Given the description of an element on the screen output the (x, y) to click on. 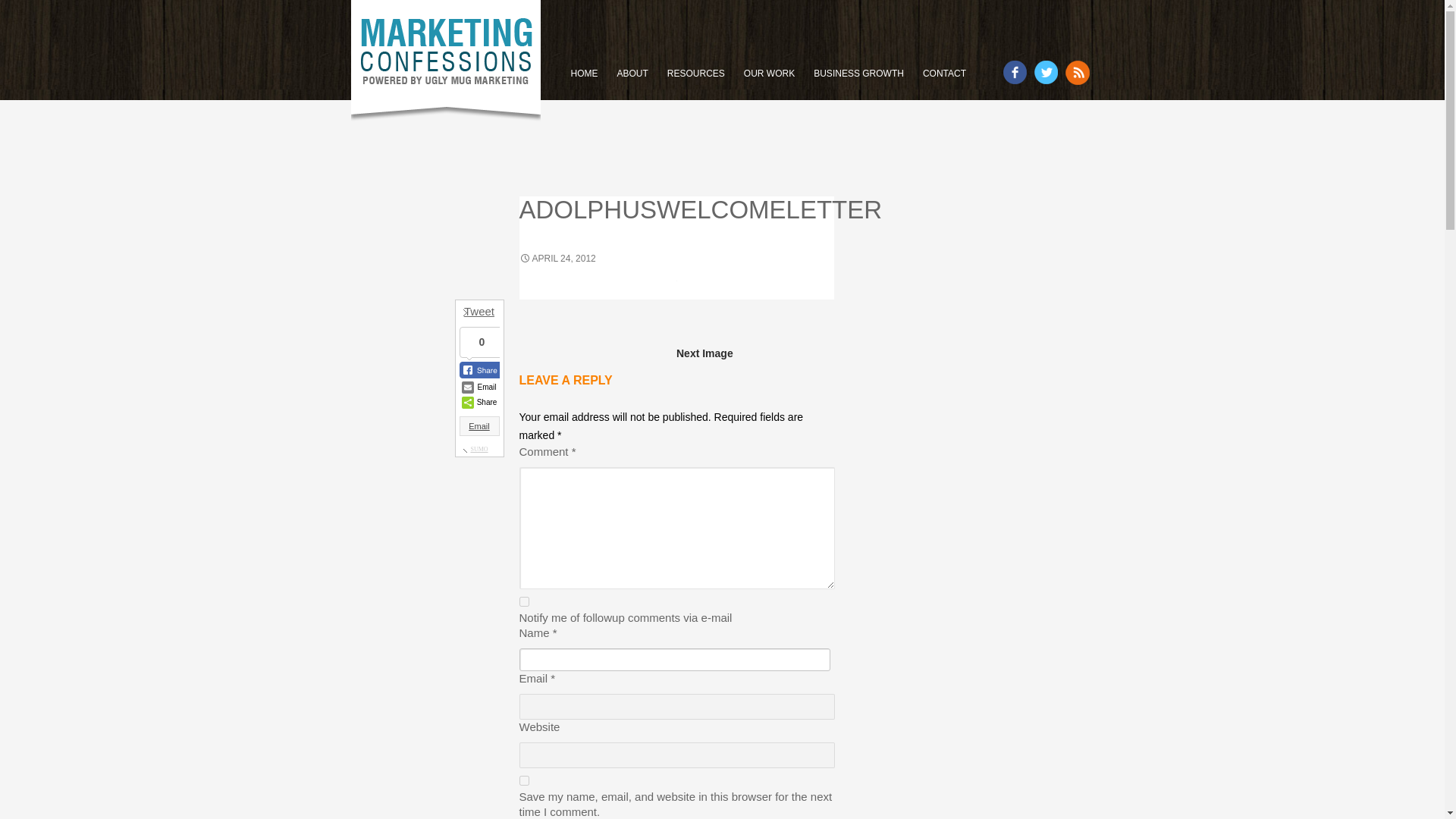
Twitter (1045, 72)
Tweet (479, 310)
subscribe (523, 601)
OUR WORK (769, 72)
Next Image (755, 353)
Rss (1076, 72)
SUMO (478, 448)
FaceBook (1014, 72)
BUSINESS GROWTH (858, 72)
Email (479, 425)
RESOURCES (695, 72)
Marketing Confession (445, 61)
ABOUT (632, 72)
CONTACT (944, 72)
HOME (583, 72)
